Given the description of an element on the screen output the (x, y) to click on. 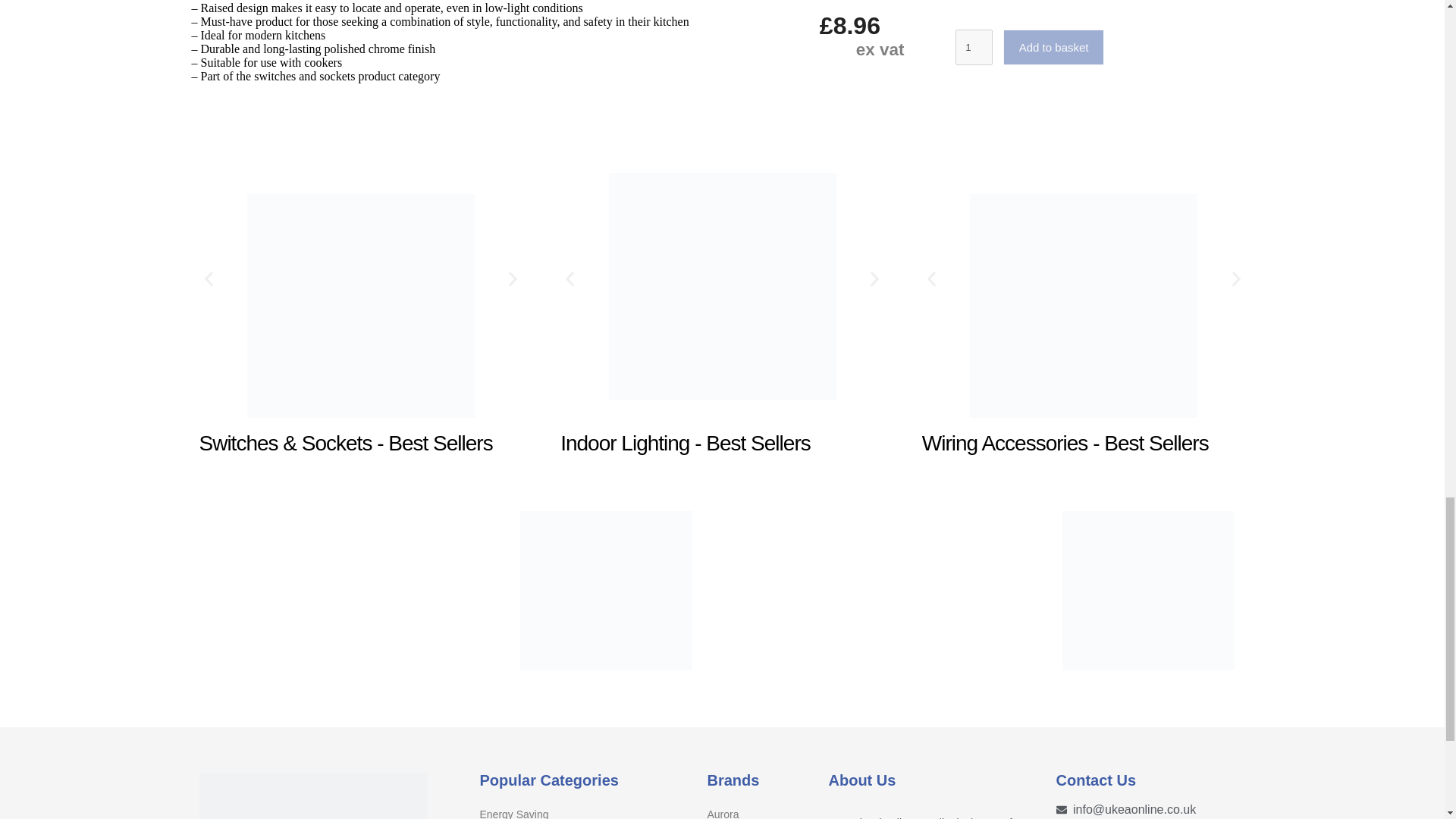
1 (973, 47)
Add to basket (1054, 47)
Indoor Lighting - Best Sellers (722, 309)
